Given the description of an element on the screen output the (x, y) to click on. 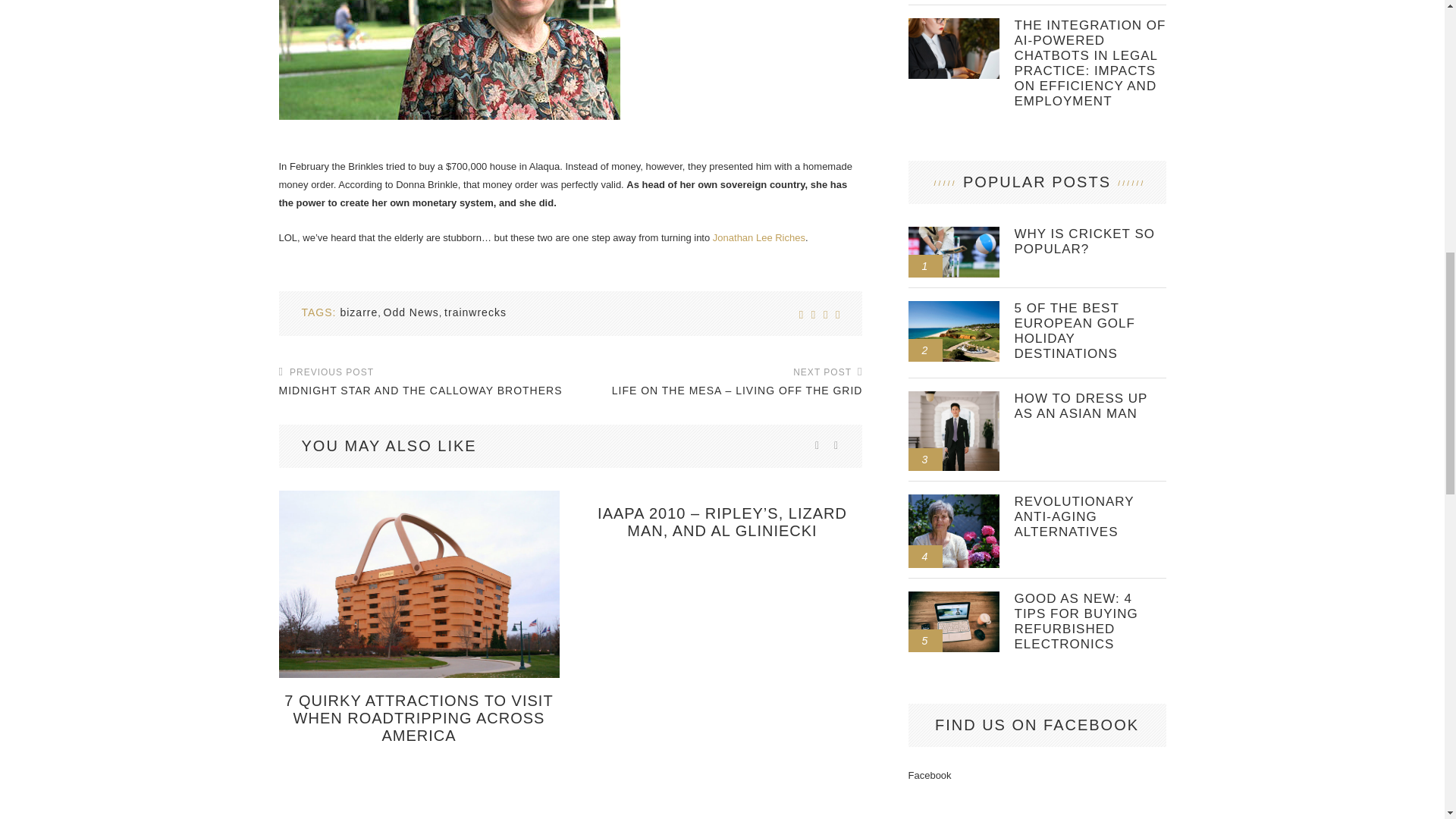
Why is cricket so popular? (1090, 241)
5 of the Best European Golf Holiday Destinations (1090, 331)
5 of the Best European Golf Holiday Destinations (953, 306)
Why is cricket so popular? (953, 232)
